Given the description of an element on the screen output the (x, y) to click on. 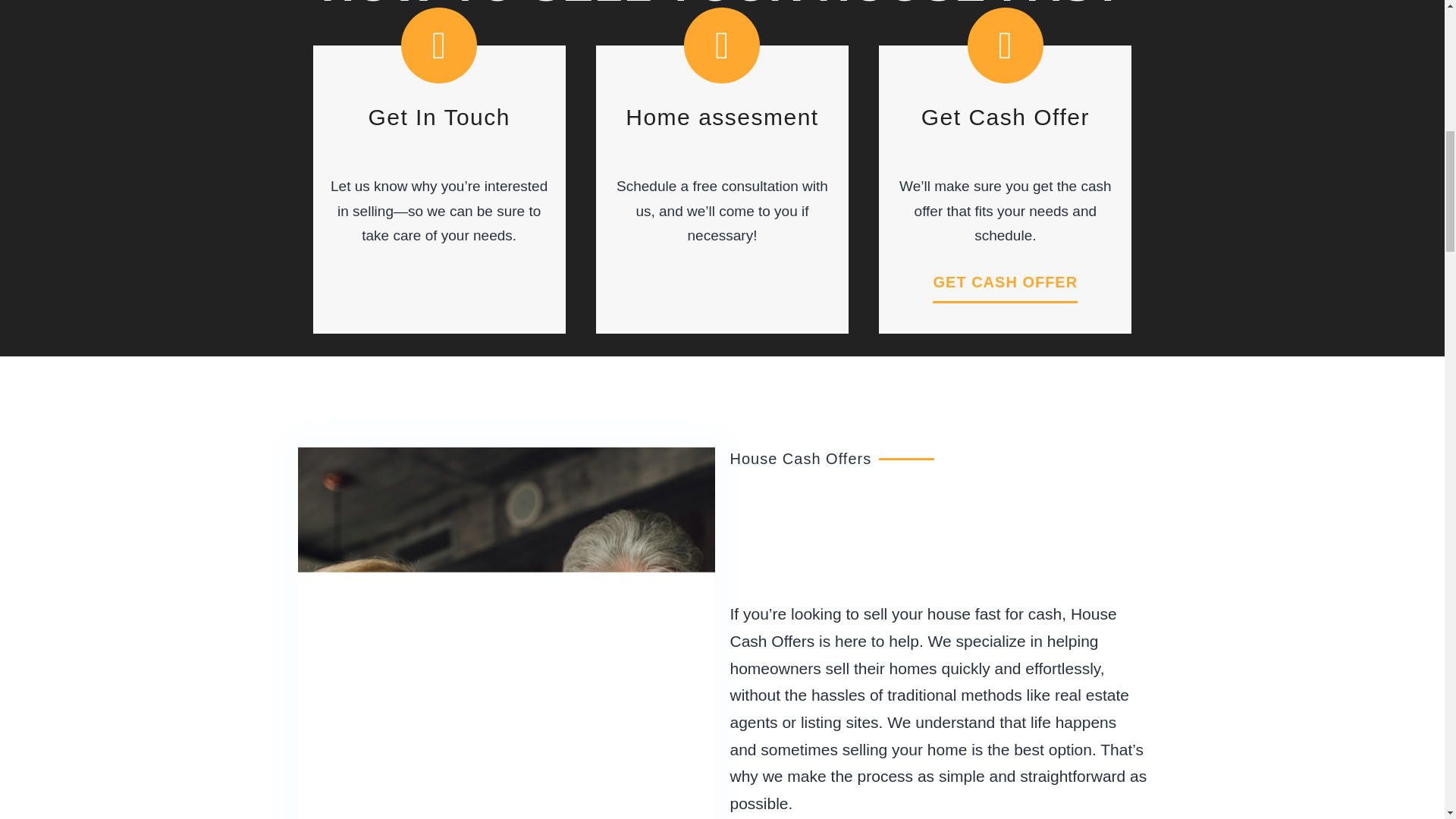
House Cash Offers (922, 627)
GET CASH OFFER (1005, 282)
